Given the description of an element on the screen output the (x, y) to click on. 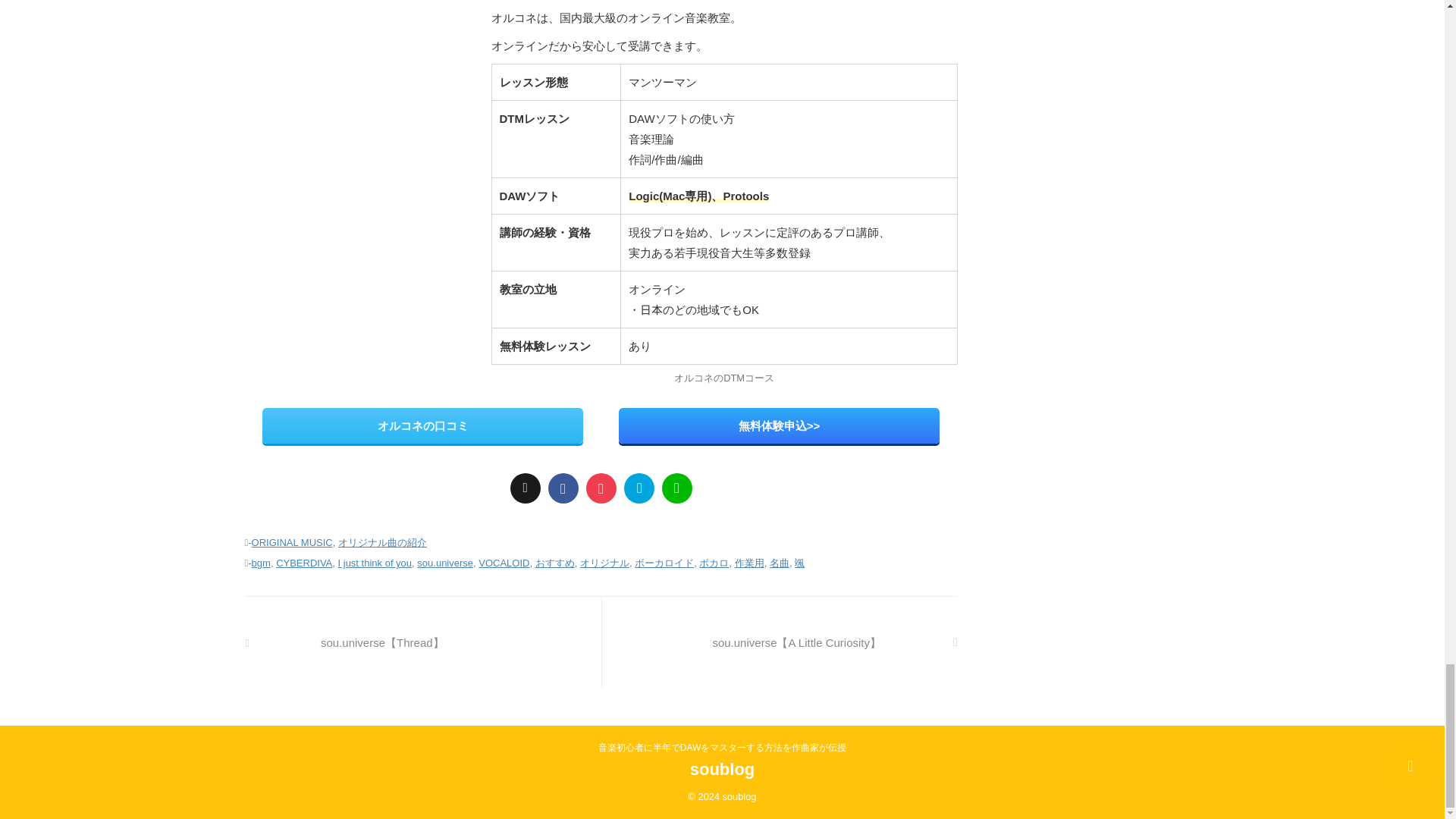
line (676, 488)
twitter (524, 488)
pocket (600, 488)
facebook (562, 488)
